Given the description of an element on the screen output the (x, y) to click on. 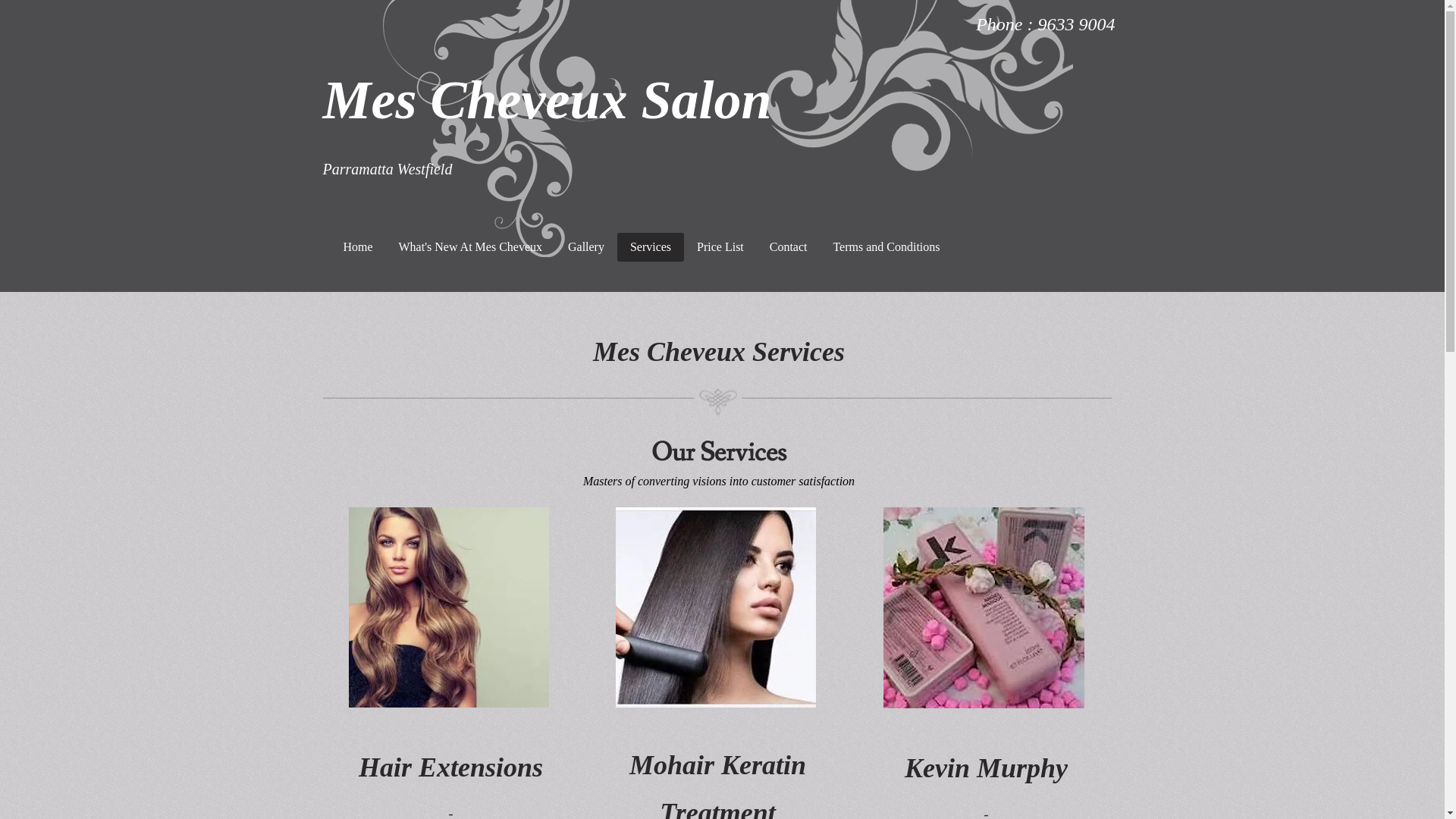
Contact Element type: text (788, 246)
Gallery Element type: text (586, 246)
Terms and Conditions Element type: text (885, 246)
What's New At Mes Cheveux Element type: text (470, 246)
Services Element type: text (650, 246)
Home Element type: text (357, 246)
Price List Element type: text (720, 246)
